Given the description of an element on the screen output the (x, y) to click on. 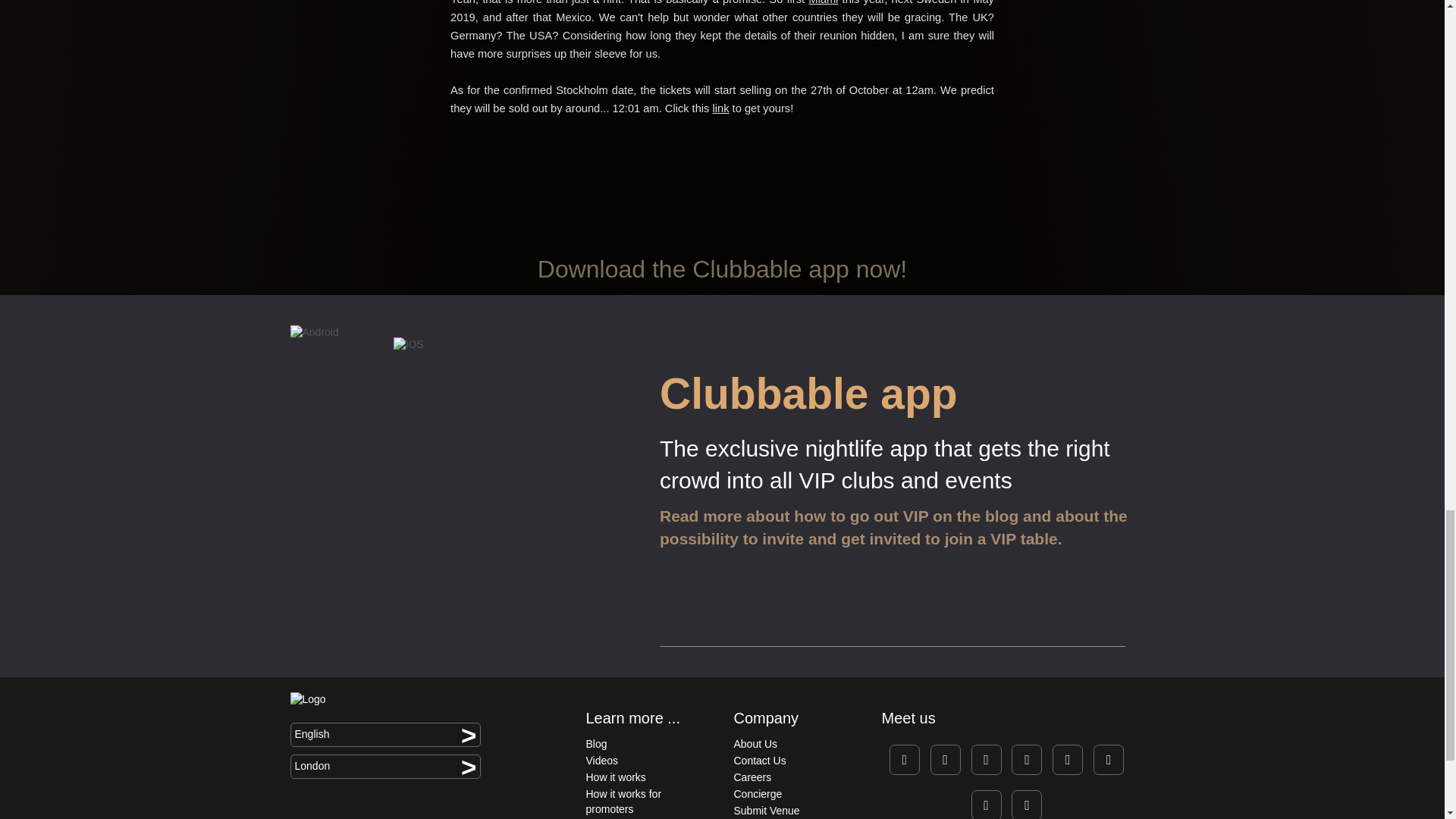
link (721, 108)
Miami (823, 2)
Blog (596, 743)
Download the Clubbable app now! (722, 268)
